Given the description of an element on the screen output the (x, y) to click on. 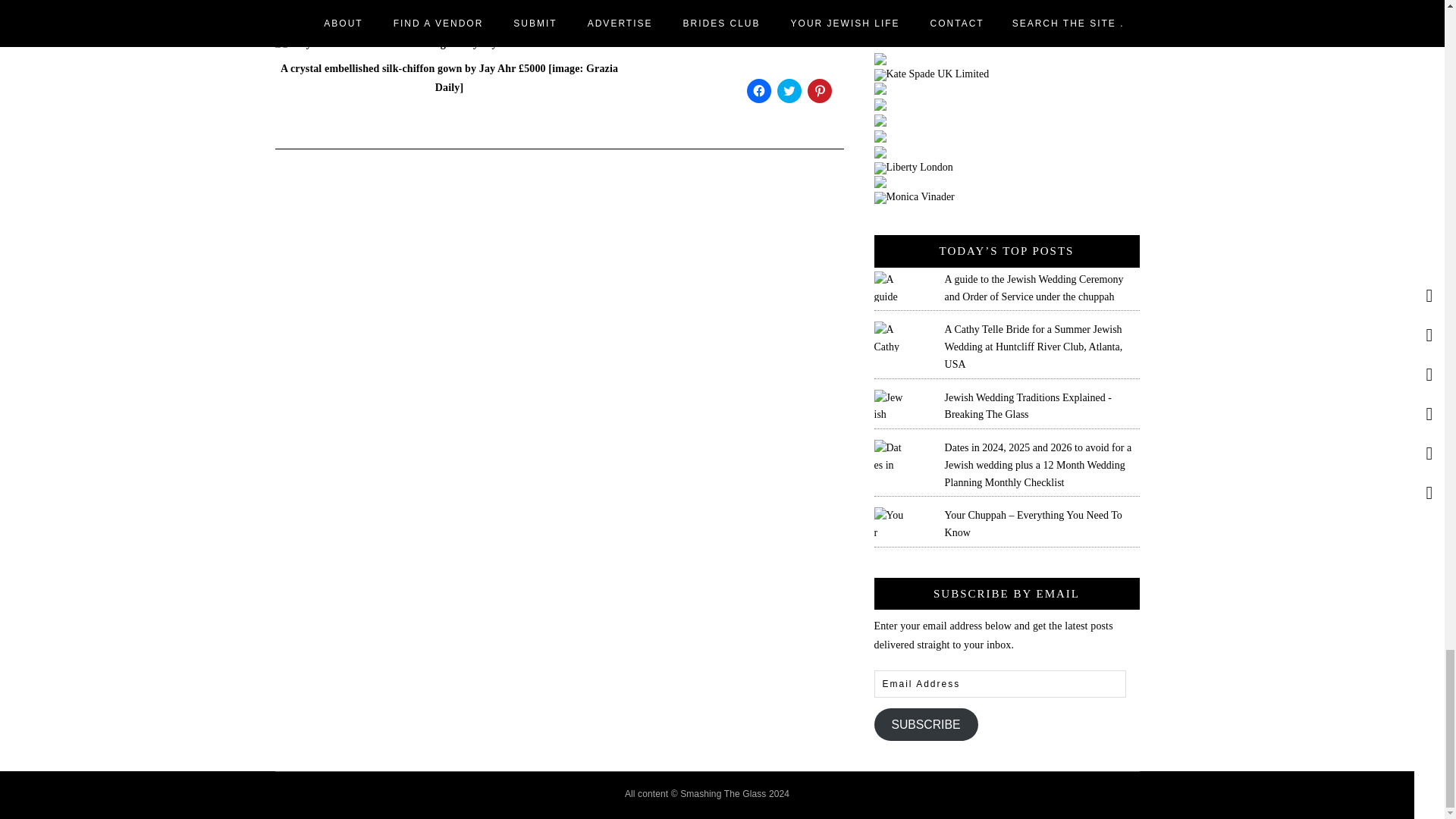
Click to share on Pinterest (818, 90)
Click to share on Facebook (757, 90)
Click to share on Twitter (788, 90)
Jewish Wedding Traditions Explained - Breaking The Glass (1028, 406)
